Given the description of an element on the screen output the (x, y) to click on. 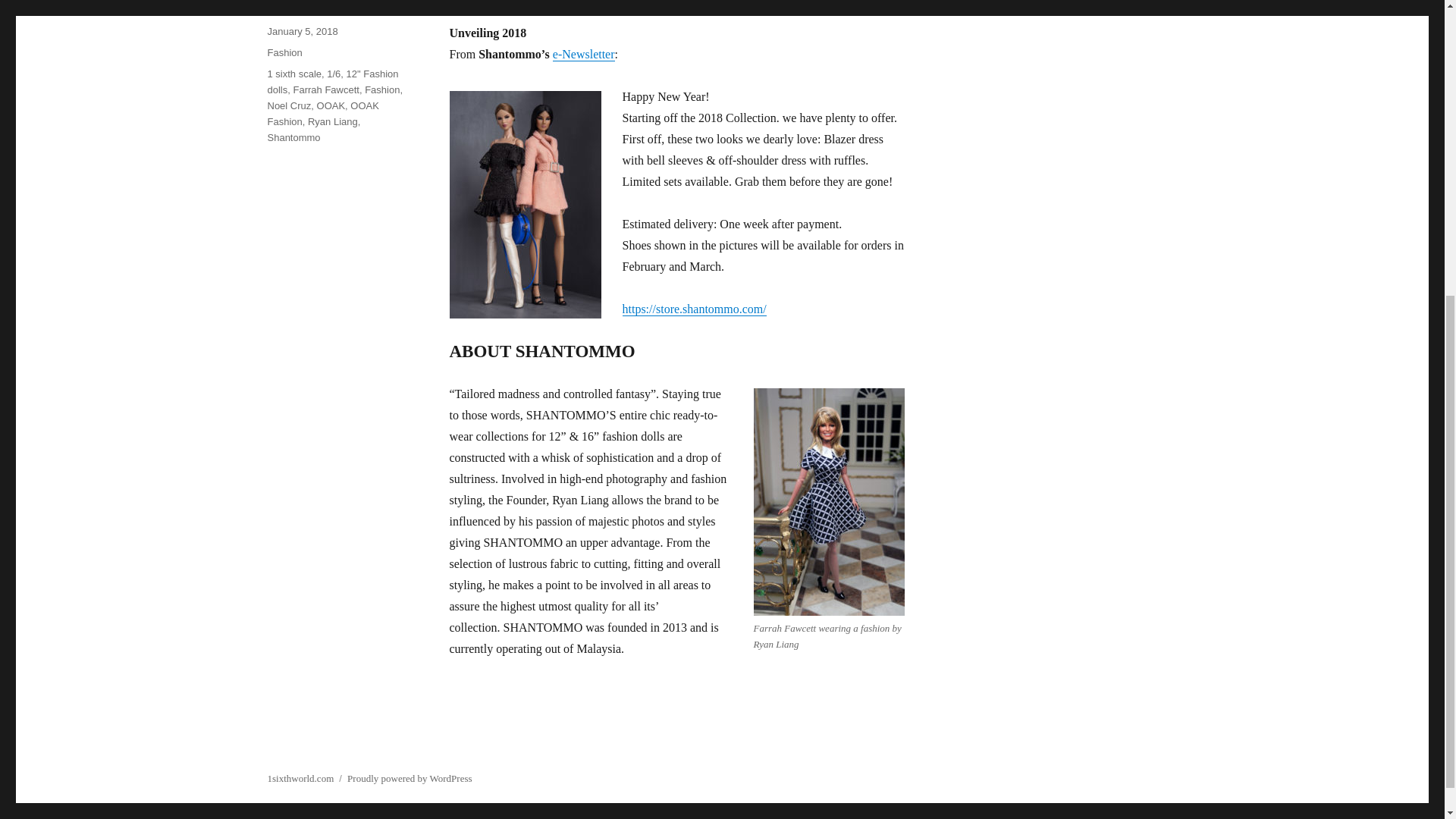
1 sixth scale (293, 73)
Fashion (381, 89)
Ryan Liang (332, 121)
Noel Cruz (288, 105)
12" Fashion dolls (331, 81)
Shantommo (293, 137)
Farrah Fawcett (325, 89)
OOAK Fashion (322, 113)
January 5, 2018 (301, 30)
OOAK (331, 105)
Fashion (283, 52)
e-Newsletter (583, 53)
